Given the description of an element on the screen output the (x, y) to click on. 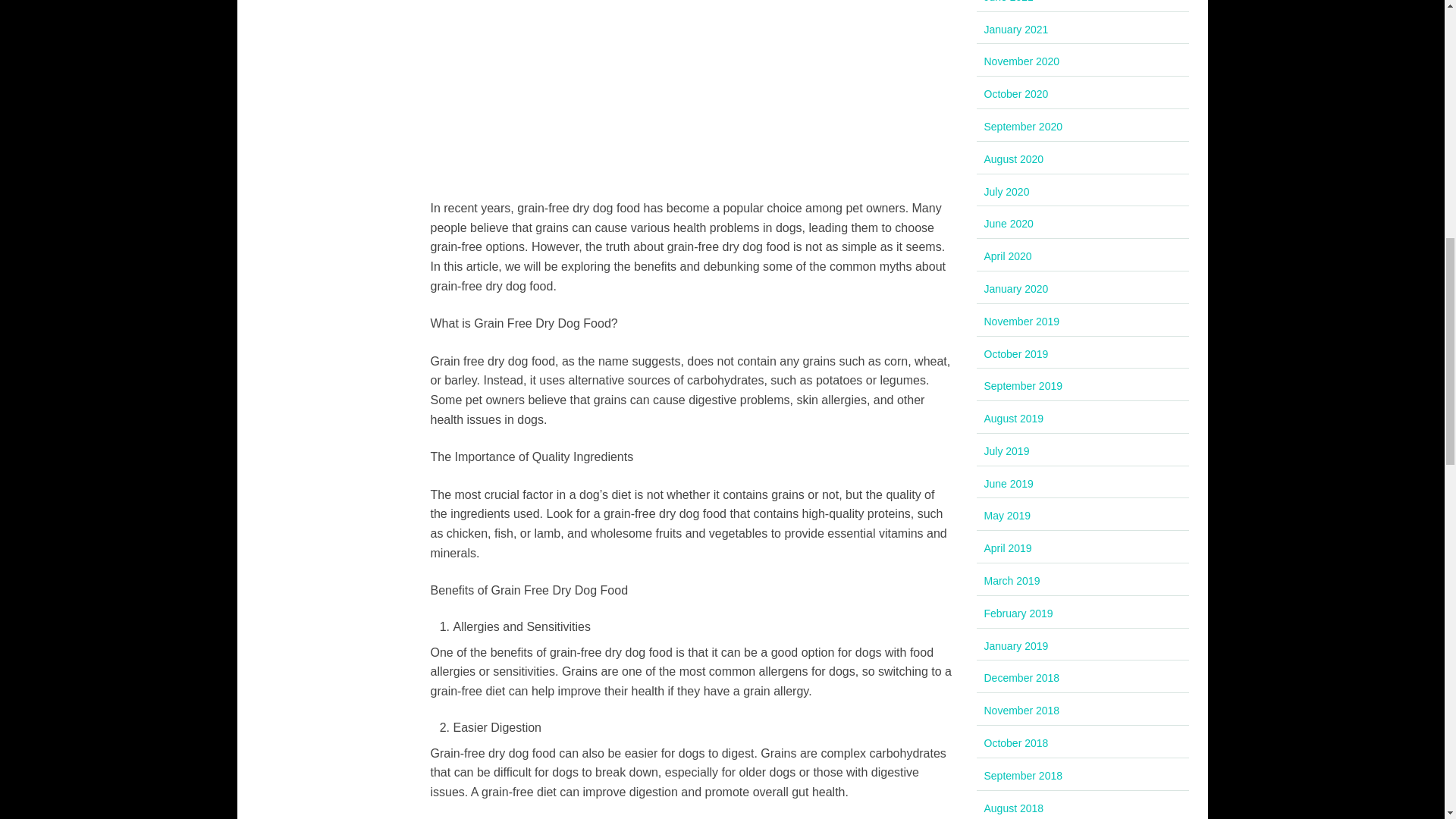
September 2020 (1023, 126)
June 2020 (1008, 223)
August 2020 (1013, 159)
October 2020 (1016, 93)
January 2021 (1016, 29)
November 2020 (1021, 61)
June 2021 (1008, 1)
July 2020 (1006, 191)
grain free dry dog food (691, 90)
